Given the description of an element on the screen output the (x, y) to click on. 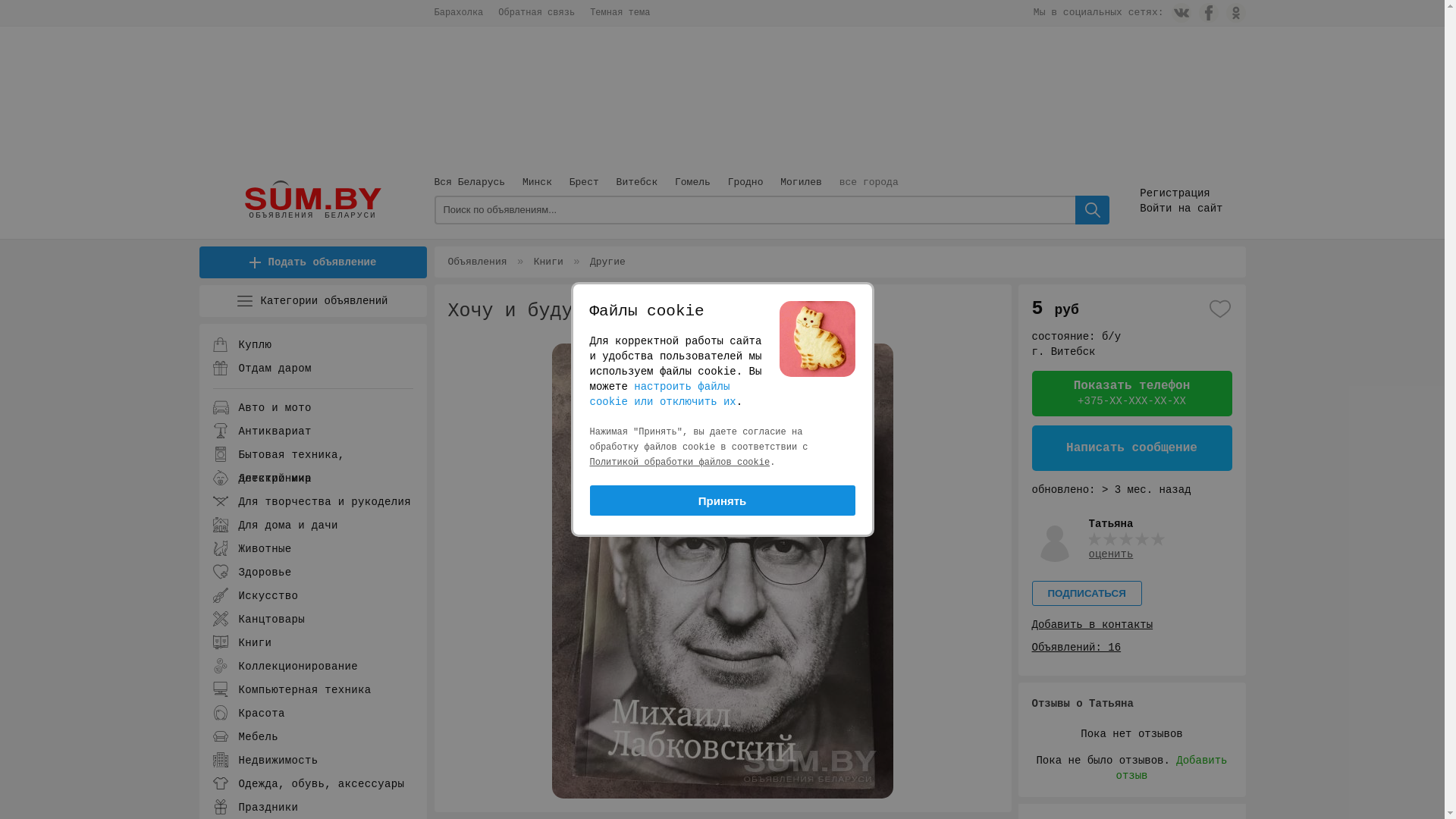
  Element type: text (1092, 209)
